Given the description of an element on the screen output the (x, y) to click on. 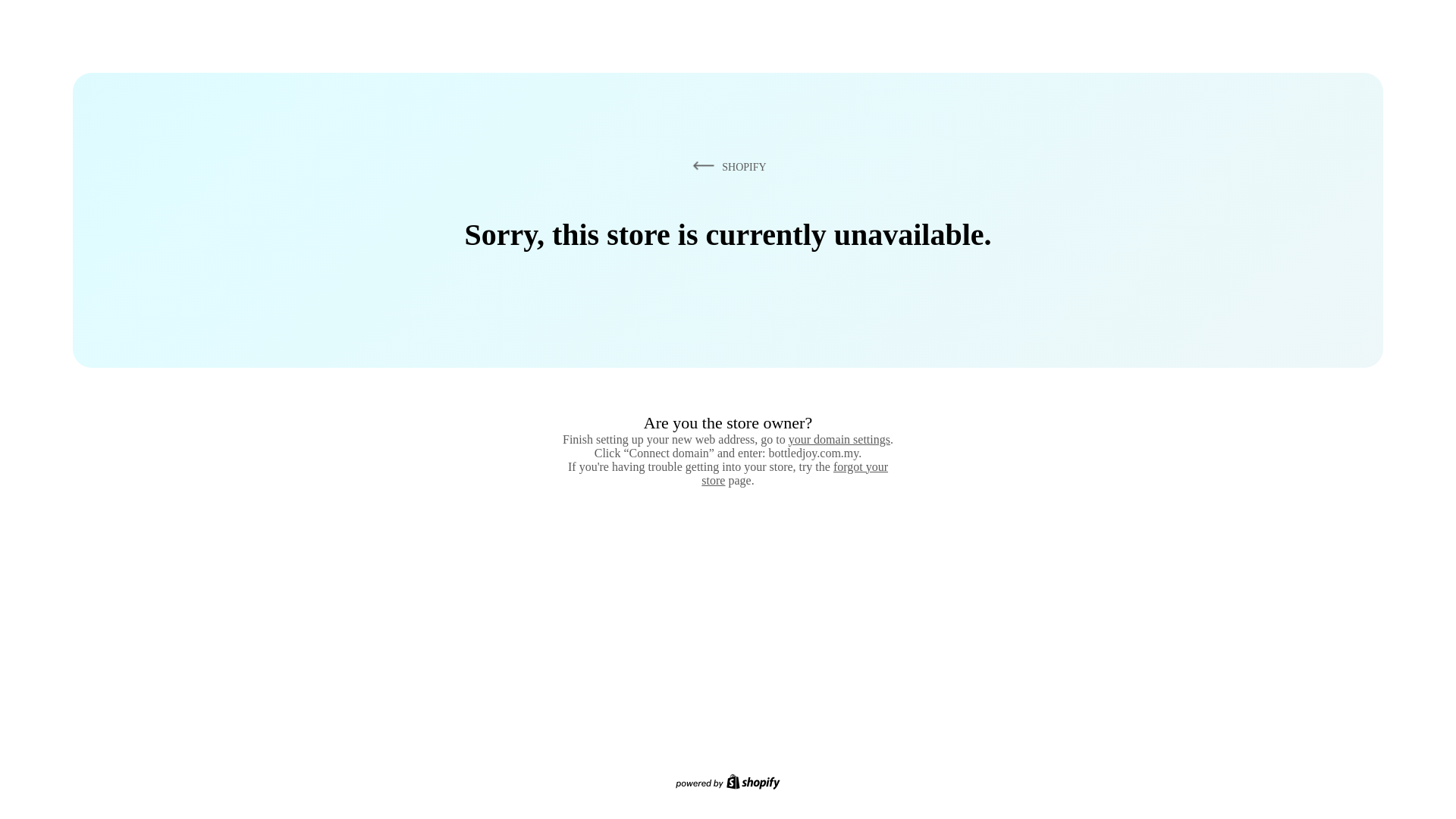
forgot your store (794, 473)
your domain settings (839, 439)
SHOPIFY (726, 166)
